Given the description of an element on the screen output the (x, y) to click on. 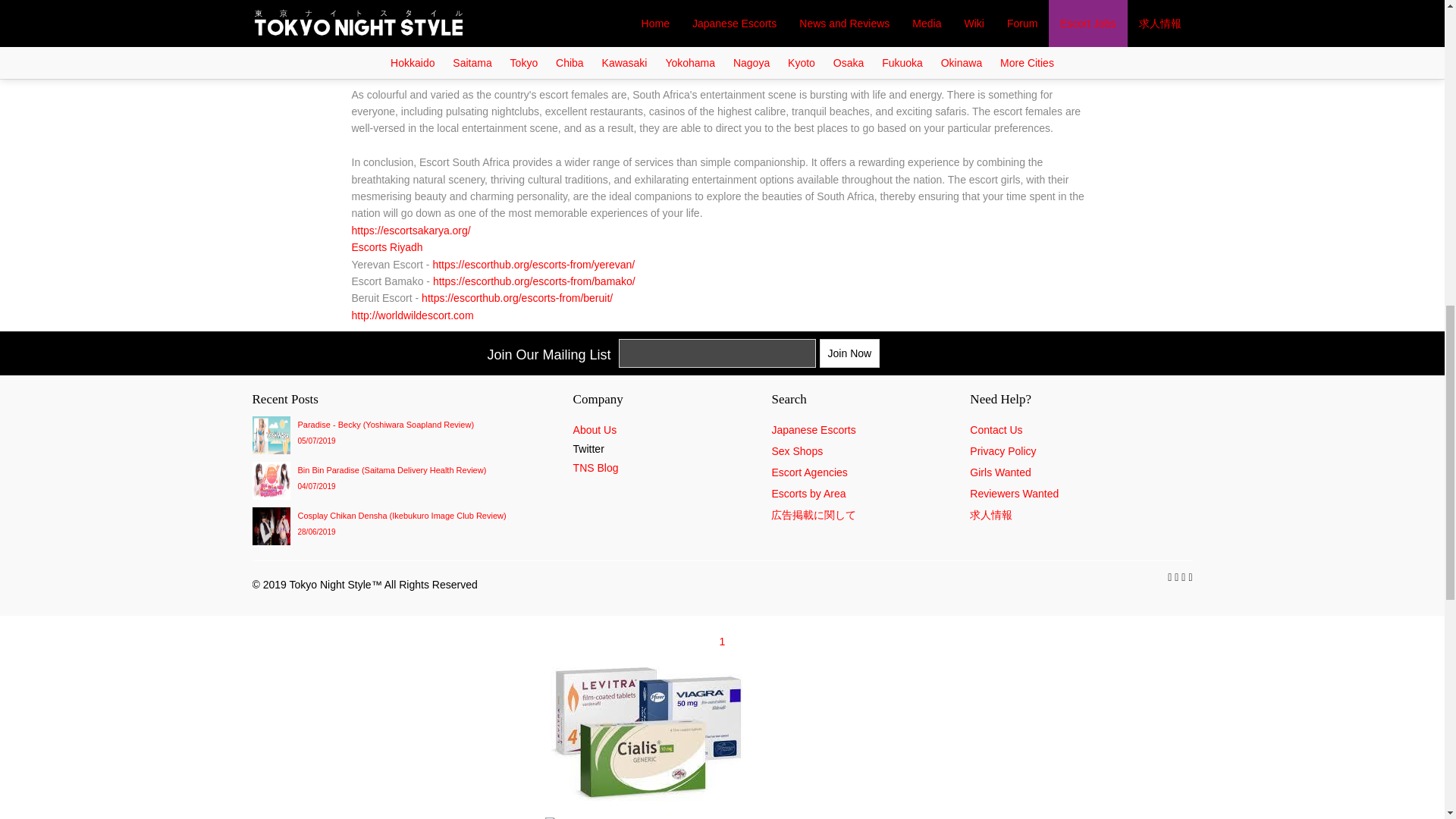
Escorts Riyadh (387, 246)
Join Now (849, 353)
